Given the description of an element on the screen output the (x, y) to click on. 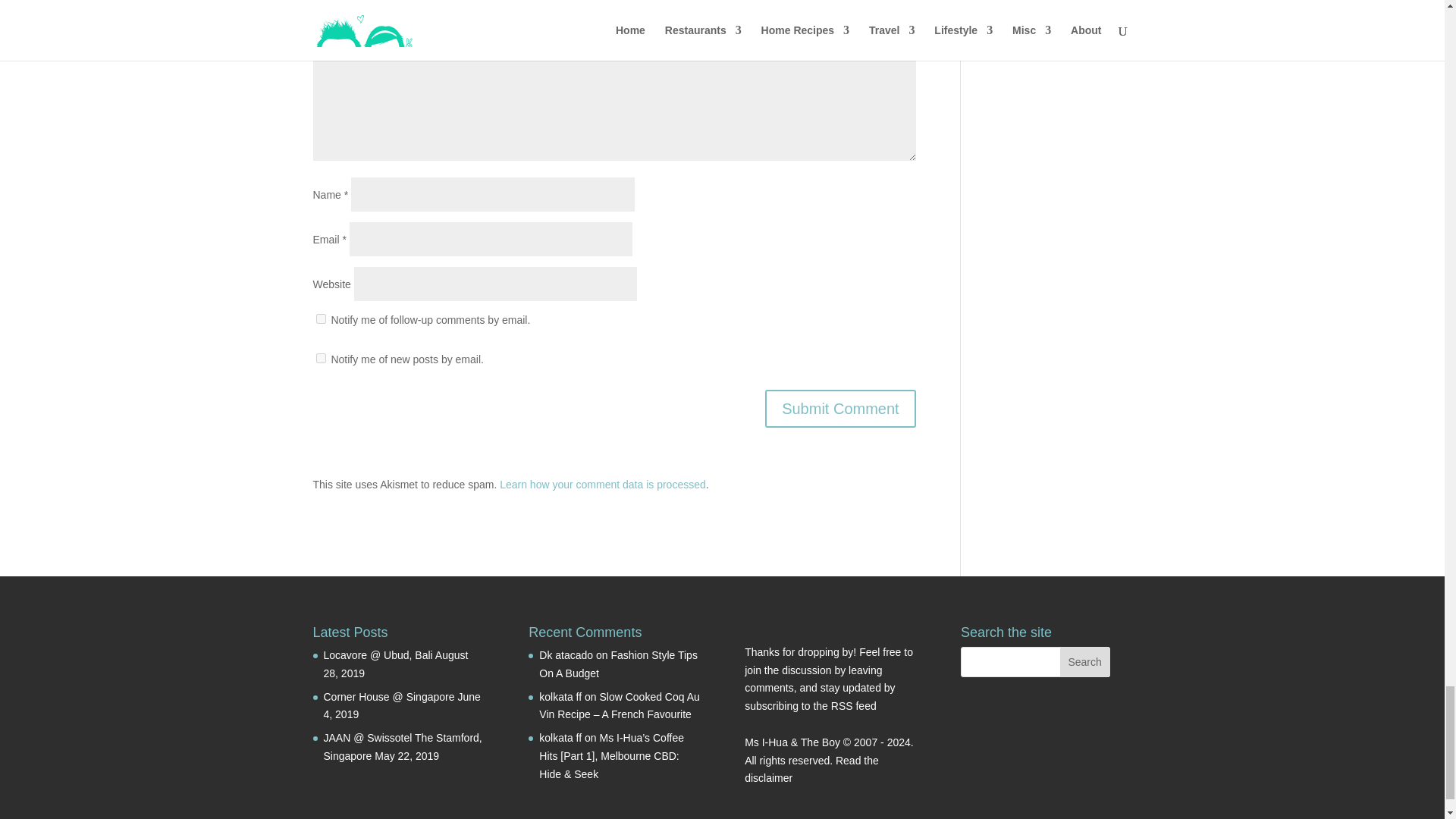
Submit Comment (840, 408)
Search (1084, 662)
subscribe (319, 318)
subscribe (319, 357)
